Given the description of an element on the screen output the (x, y) to click on. 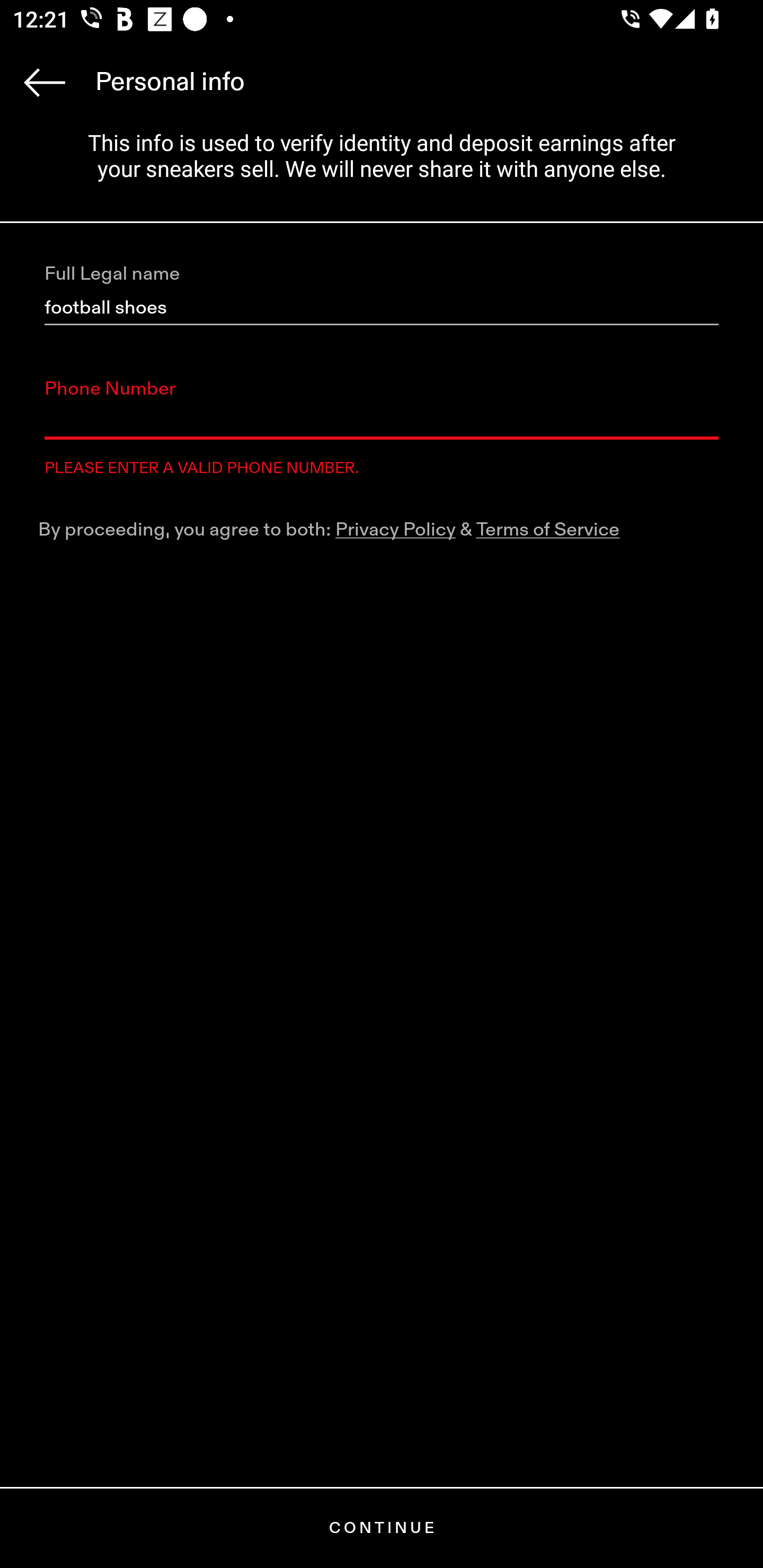
Navigate up (44, 82)
football shoes (381, 308)
Phone Number (381, 422)
CONTINUE (381, 1528)
